Given the description of an element on the screen output the (x, y) to click on. 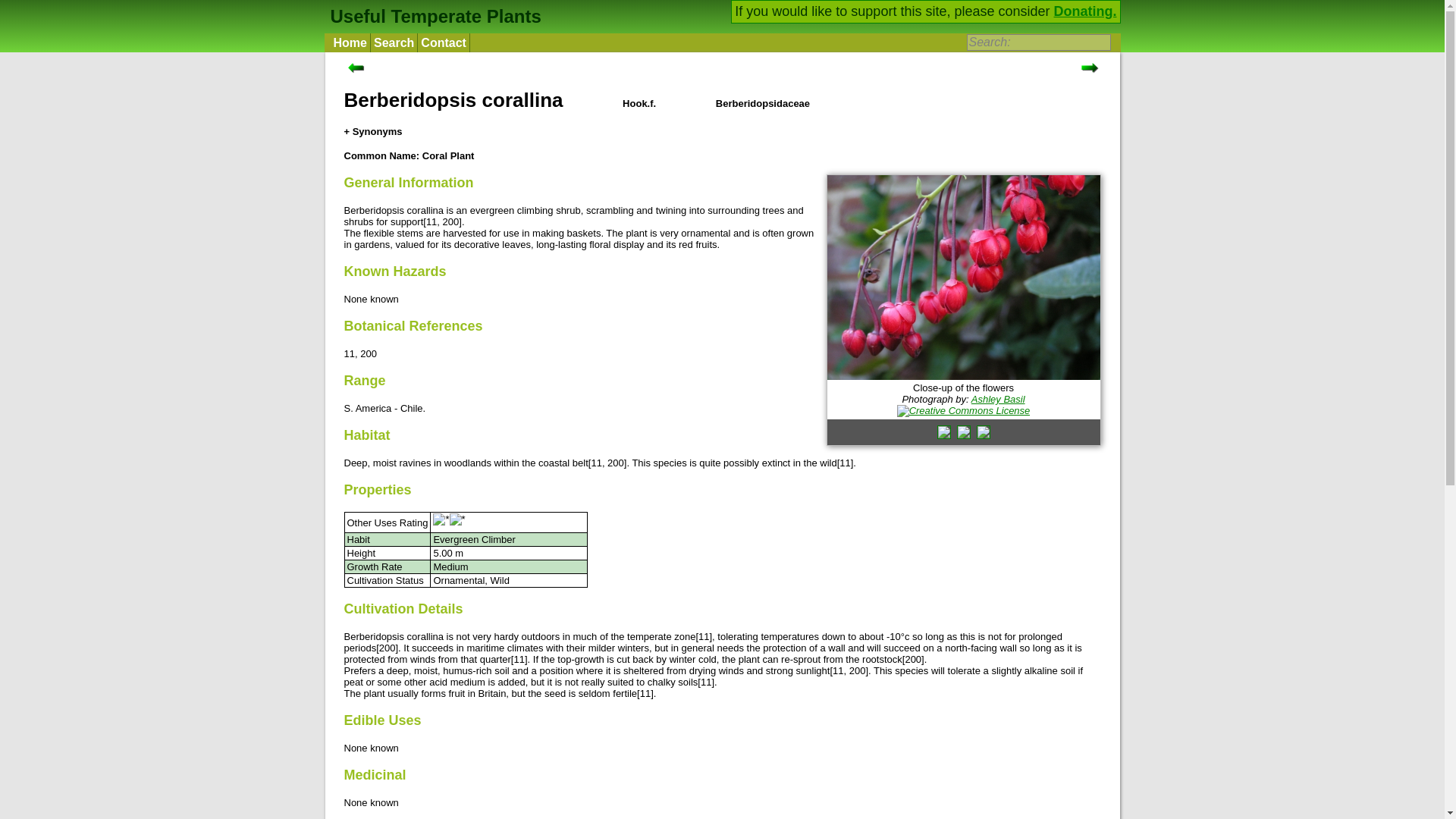
Search (394, 42)
Search: (1037, 42)
200 (615, 462)
Useful Temperate Plants (432, 15)
11 (845, 462)
11 (518, 659)
11 (431, 221)
11 (703, 636)
11 (837, 670)
Ashley Basil (998, 398)
200 (368, 353)
200 (857, 670)
11 (705, 681)
11 (349, 353)
11 (645, 693)
